Given the description of an element on the screen output the (x, y) to click on. 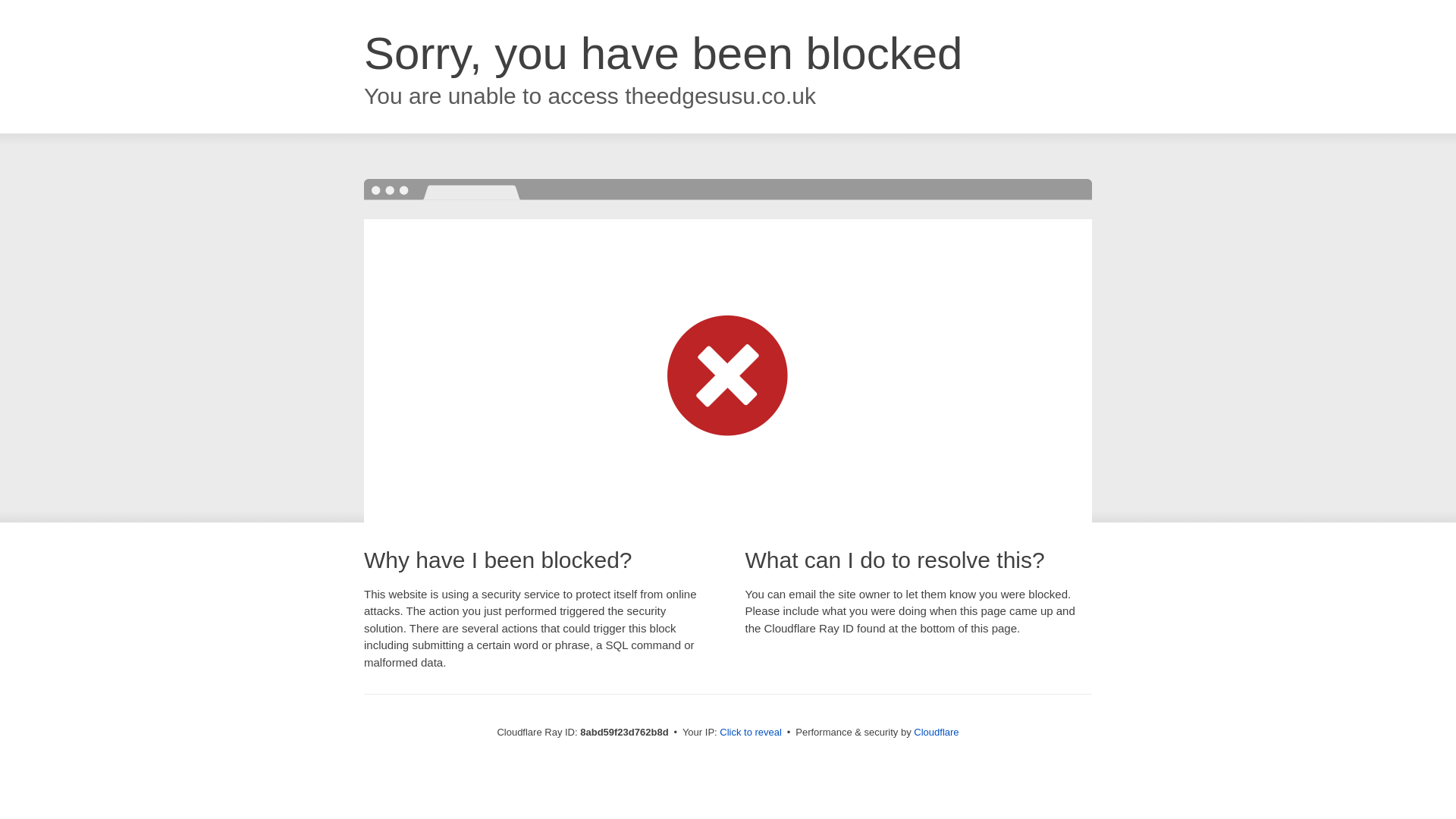
Click to reveal (750, 732)
Cloudflare (936, 731)
